Given the description of an element on the screen output the (x, y) to click on. 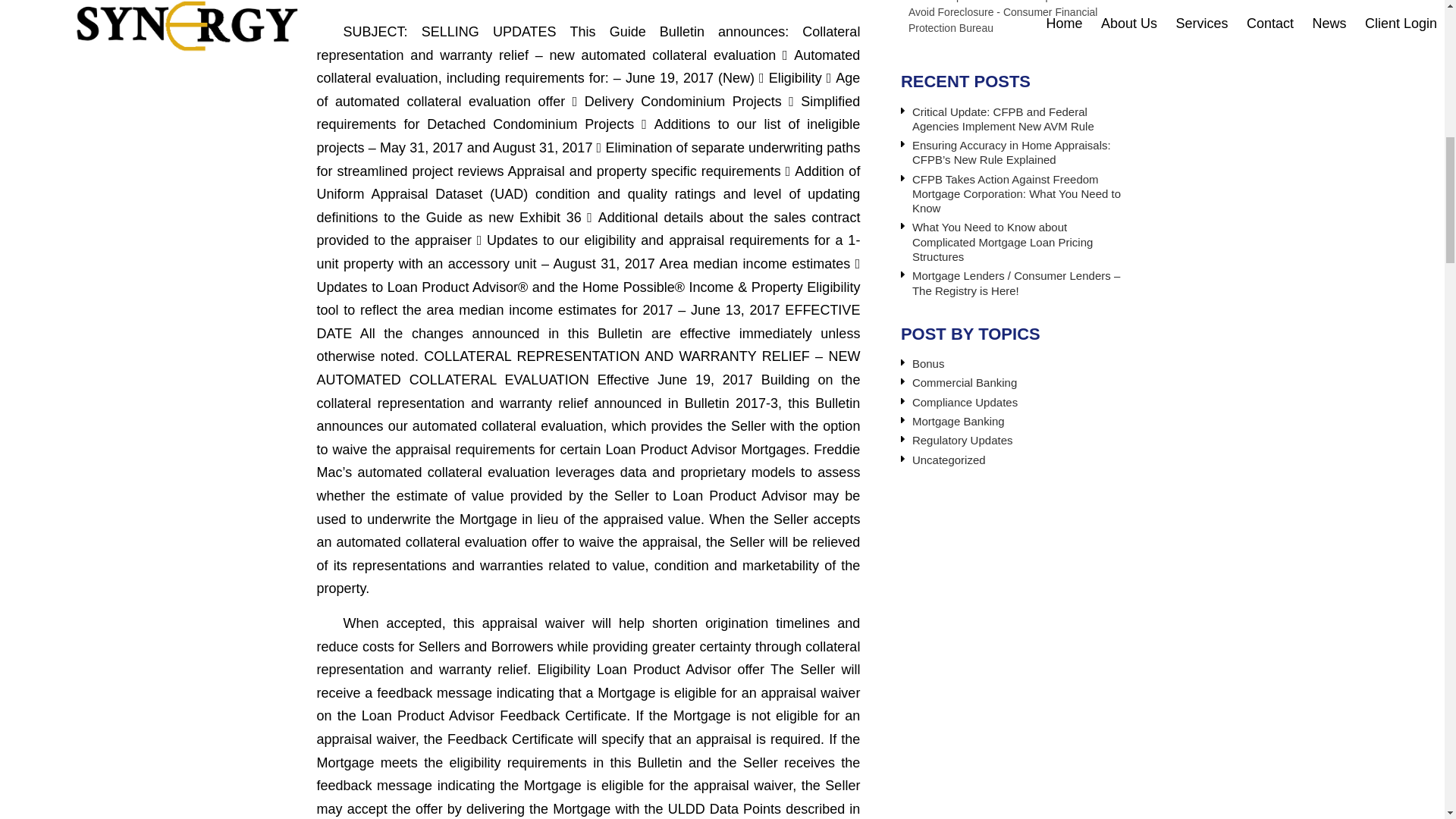
Regulatory Updates (962, 440)
Commercial Banking (964, 382)
Uncategorized (948, 459)
Bonus (928, 363)
Compliance Updates (964, 401)
Mortgage Banking (958, 420)
